Given the description of an element on the screen output the (x, y) to click on. 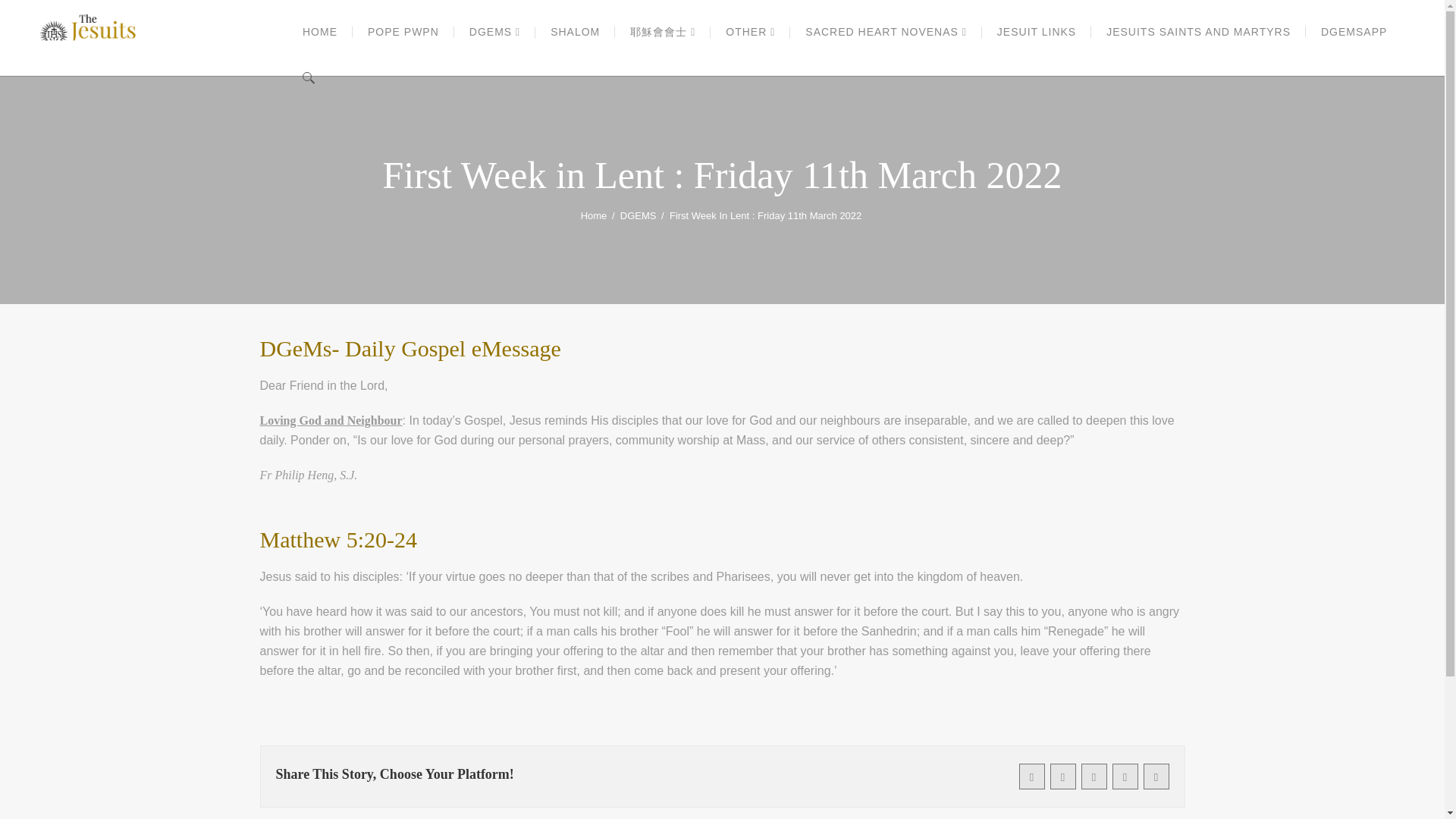
JESUIT LINKS (1036, 31)
SACRED HEART NOVENAS (885, 32)
OTHER (750, 32)
Home (593, 216)
POPE PWPN (402, 31)
DGEMSAPP (1353, 31)
DGEMS (494, 32)
Search (1177, 43)
JESUITS SAINTS AND MARTYRS (1198, 31)
DGEMS (638, 216)
